Given the description of an element on the screen output the (x, y) to click on. 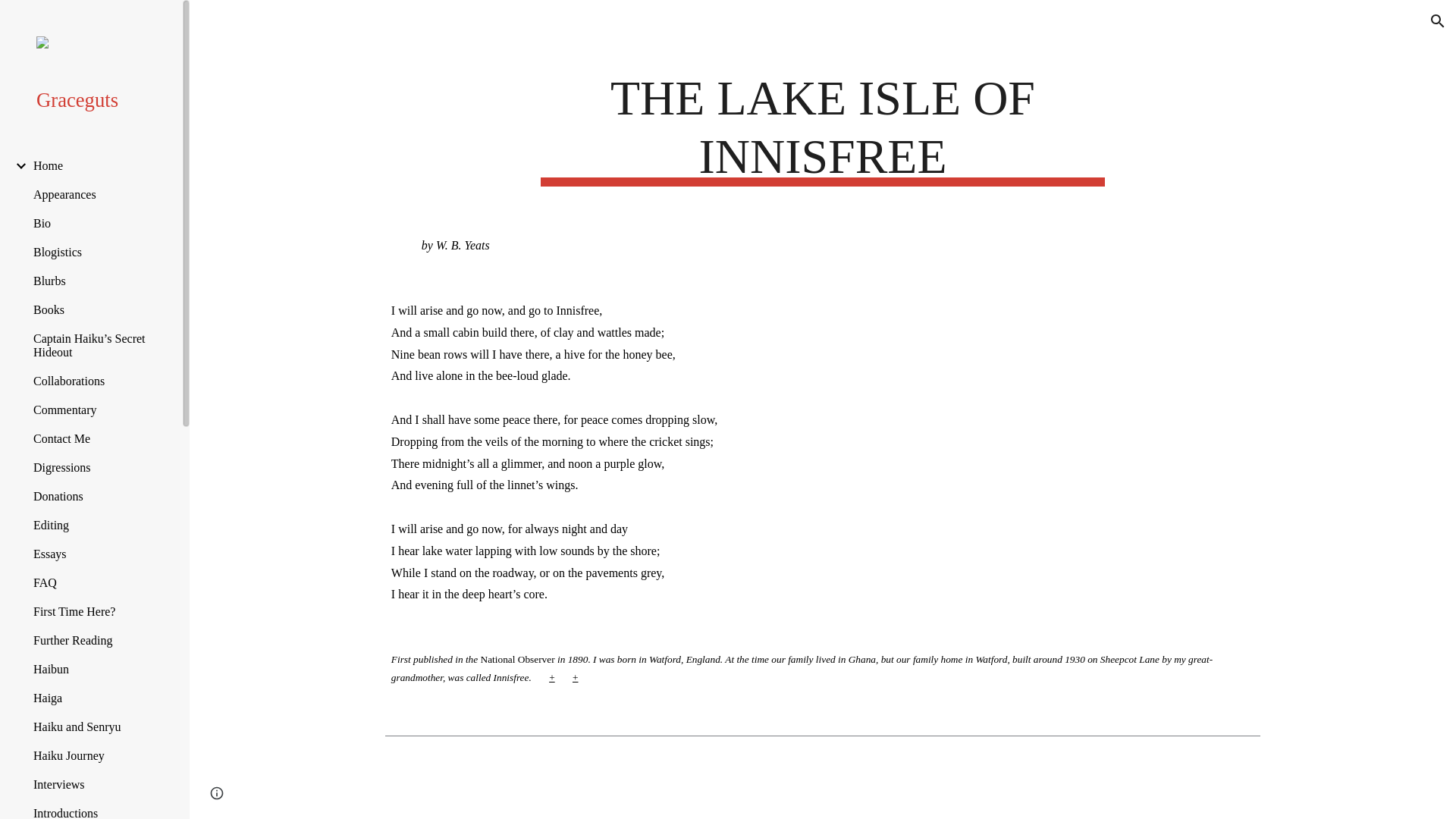
Haiku and Senryu (95, 726)
Graceguts (97, 99)
Interviews (95, 784)
Blurbs (95, 281)
Donations (95, 496)
FAQ (95, 582)
Haibun (95, 669)
Bio (95, 223)
First Time Here? (95, 612)
Commentary (95, 409)
Essays (95, 554)
Blogistics (95, 252)
Further Reading (95, 640)
Books (95, 309)
Contact Me (95, 438)
